Given the description of an element on the screen output the (x, y) to click on. 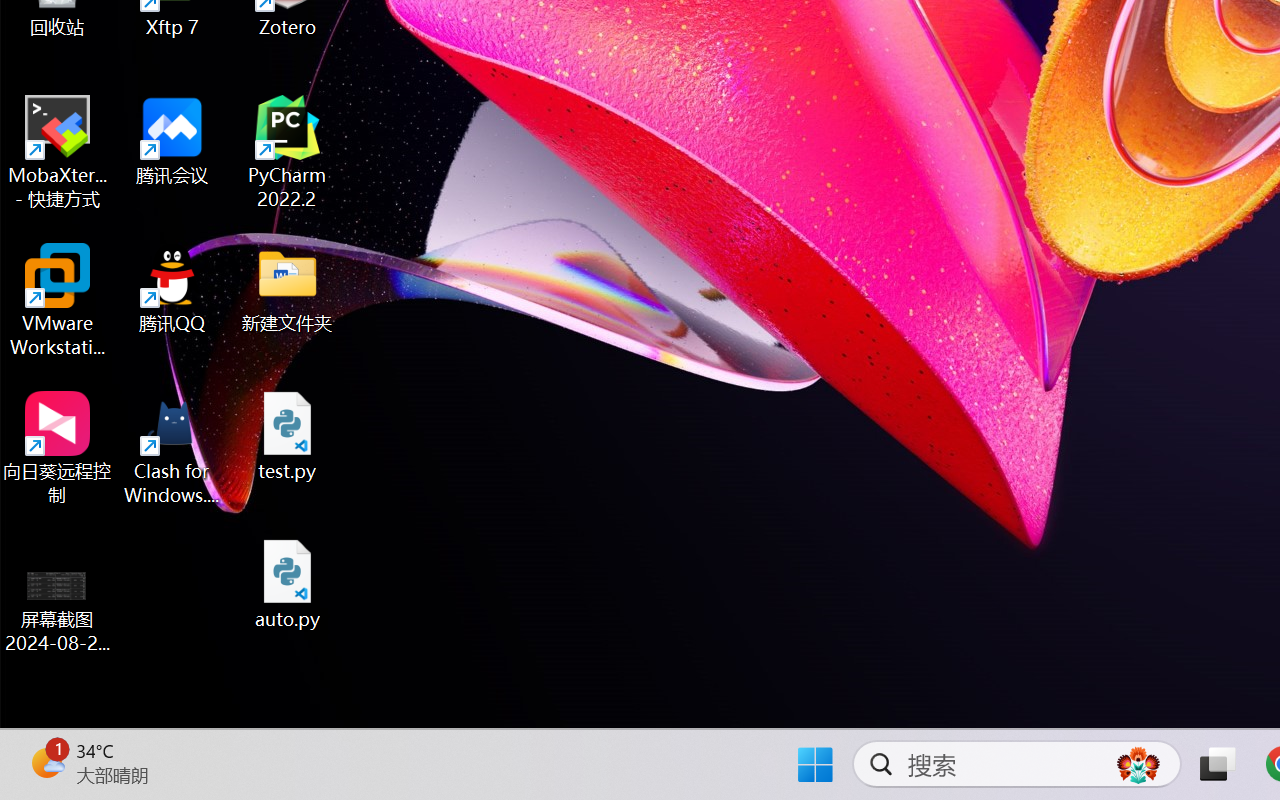
PyCharm 2022.2 (287, 152)
auto.py (287, 584)
VMware Workstation Pro (57, 300)
